Given the description of an element on the screen output the (x, y) to click on. 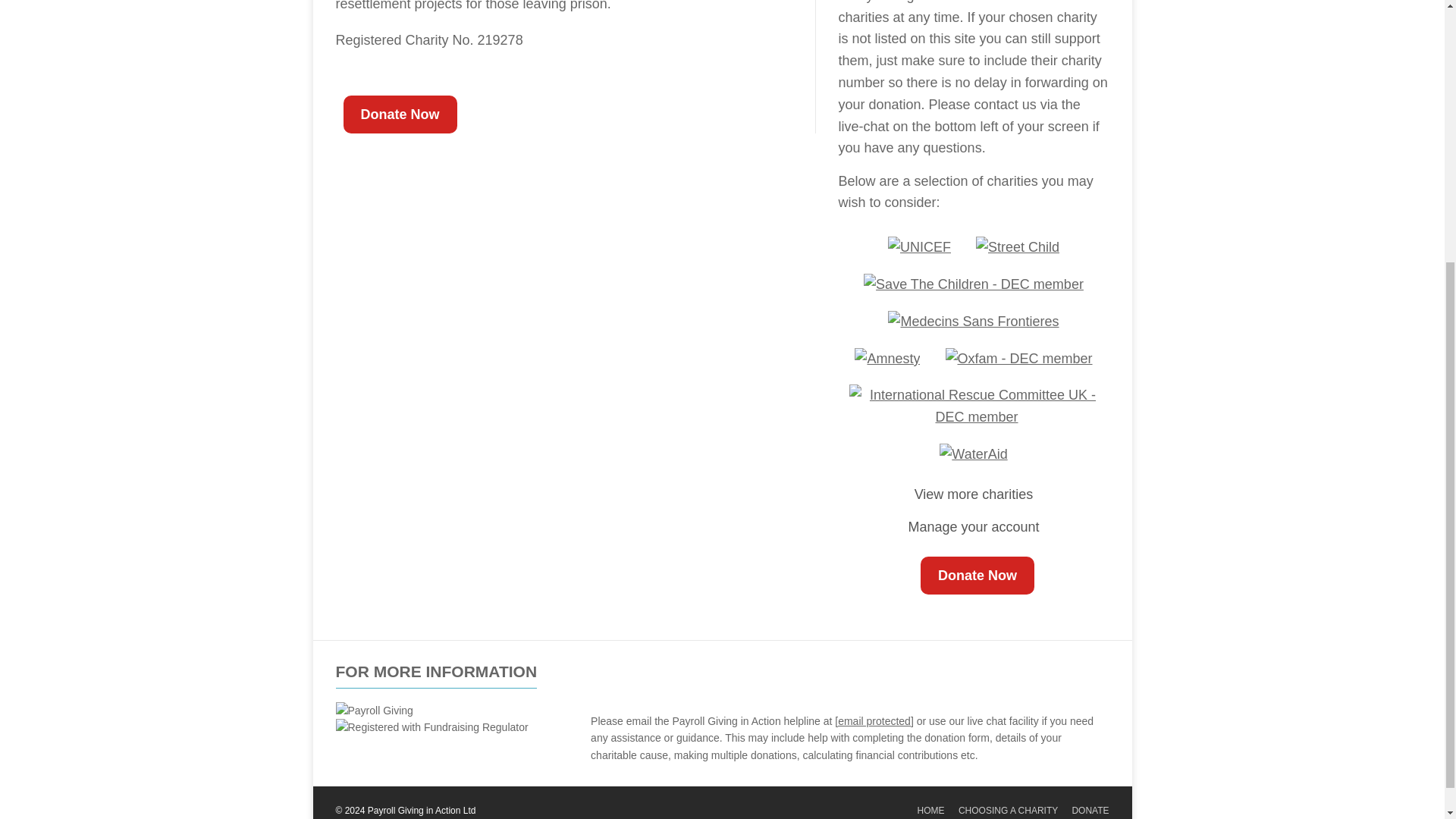
Amnesty (887, 358)
Save The Children - DEC member (973, 284)
UNICEF (919, 247)
CHOOSING A CHARITY (1008, 810)
Medecins Sans Frontieres (972, 321)
Oxfam - DEC member (1018, 358)
HOME (930, 810)
Street Child (1017, 247)
WaterAid (972, 454)
Manage your account (973, 526)
View more charities (973, 494)
DONATE (1089, 810)
International Rescue Committee UK - DEC member (976, 405)
Donate Now (399, 114)
Donate Now (976, 575)
